Given the description of an element on the screen output the (x, y) to click on. 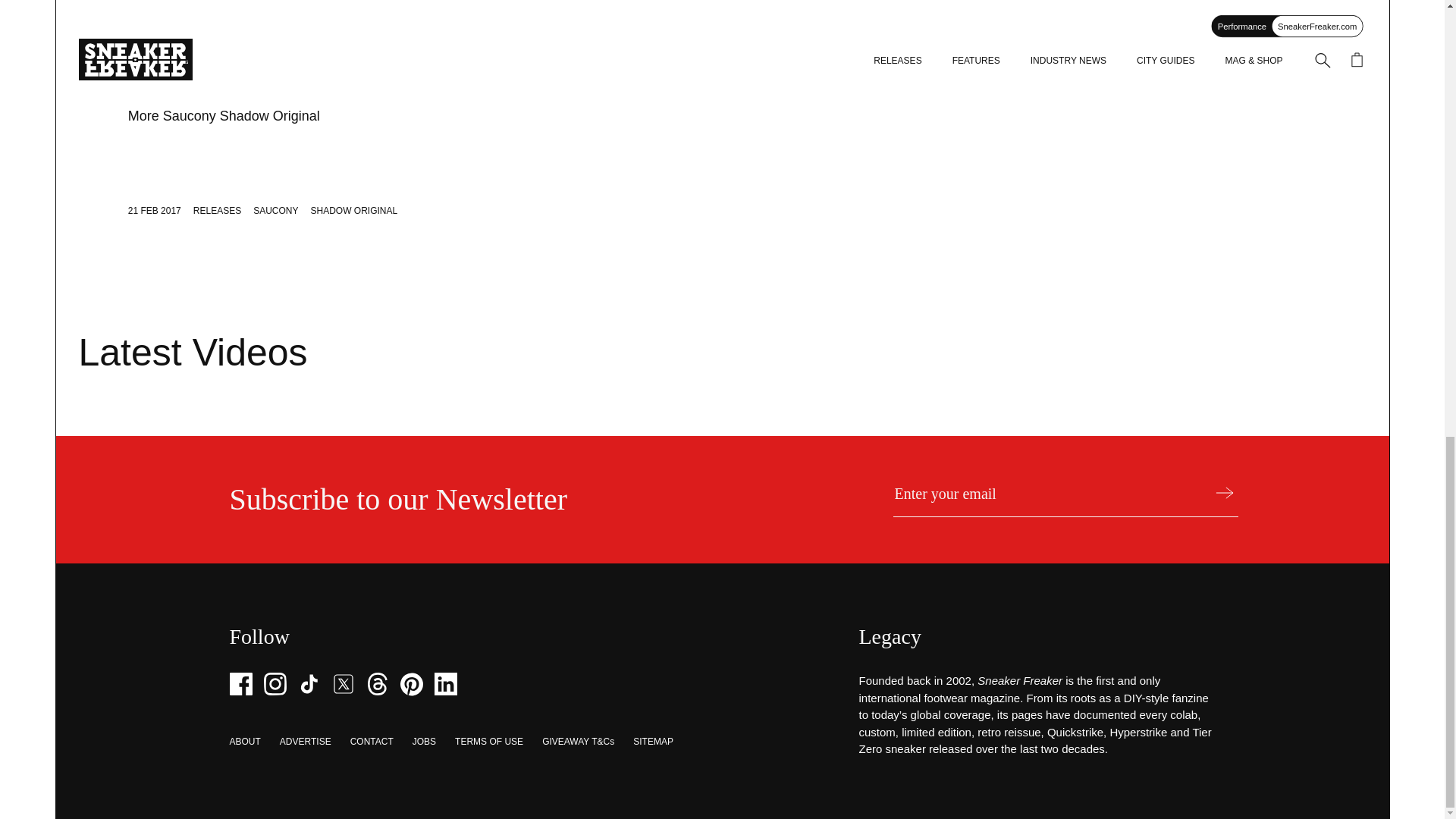
The Good Will Out (781, 81)
RELEASES (217, 210)
TERMS OF USE (488, 741)
JOBS (423, 741)
SAUCONY (275, 210)
ABOUT (244, 741)
ADVERTISE (305, 741)
SHADOW ORIGINAL (354, 210)
SITEMAP (652, 741)
CONTACT (371, 741)
